Given the description of an element on the screen output the (x, y) to click on. 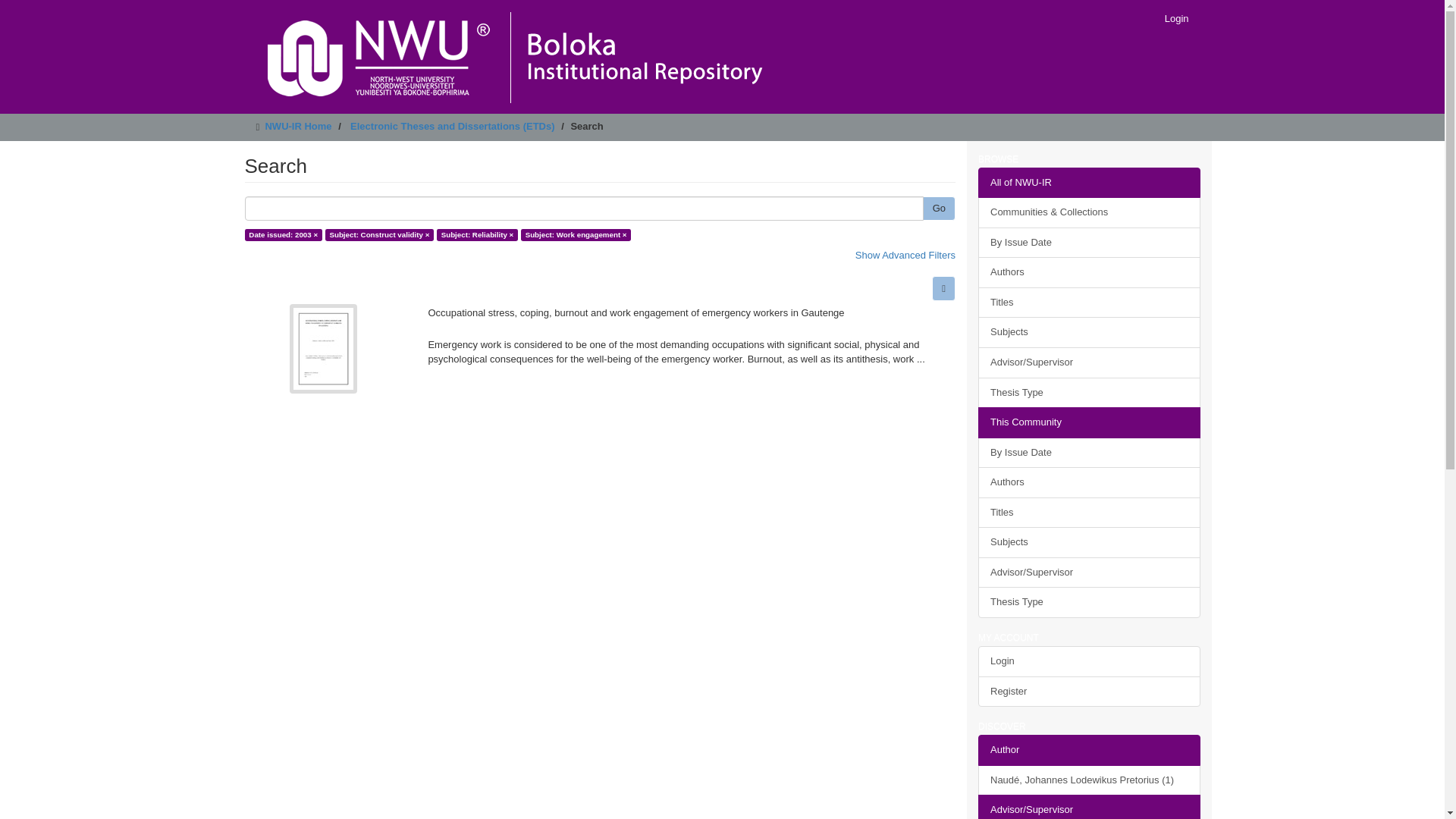
NWU-IR Home (297, 125)
Show Advanced Filters (905, 255)
Login (1176, 18)
Go (939, 208)
